Given the description of an element on the screen output the (x, y) to click on. 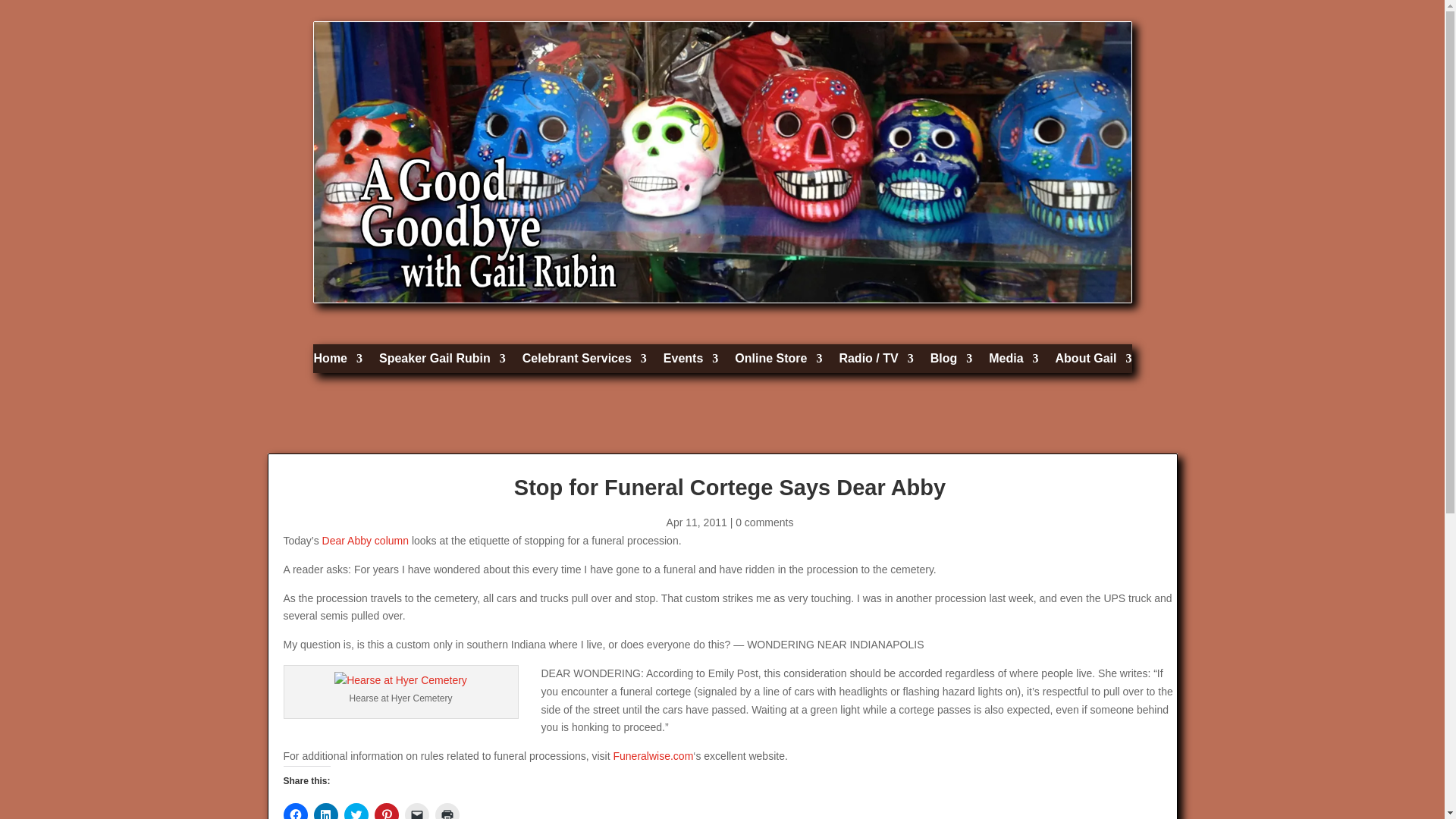
Blog (951, 361)
Funeral Services (584, 361)
Click to share on Pinterest (386, 811)
Click to share on Facebook (295, 811)
Click to print (447, 811)
Celebrant Services (584, 361)
Click to share on LinkedIn (325, 811)
Online Store (778, 361)
Events (690, 361)
Home (338, 361)
